Given the description of an element on the screen output the (x, y) to click on. 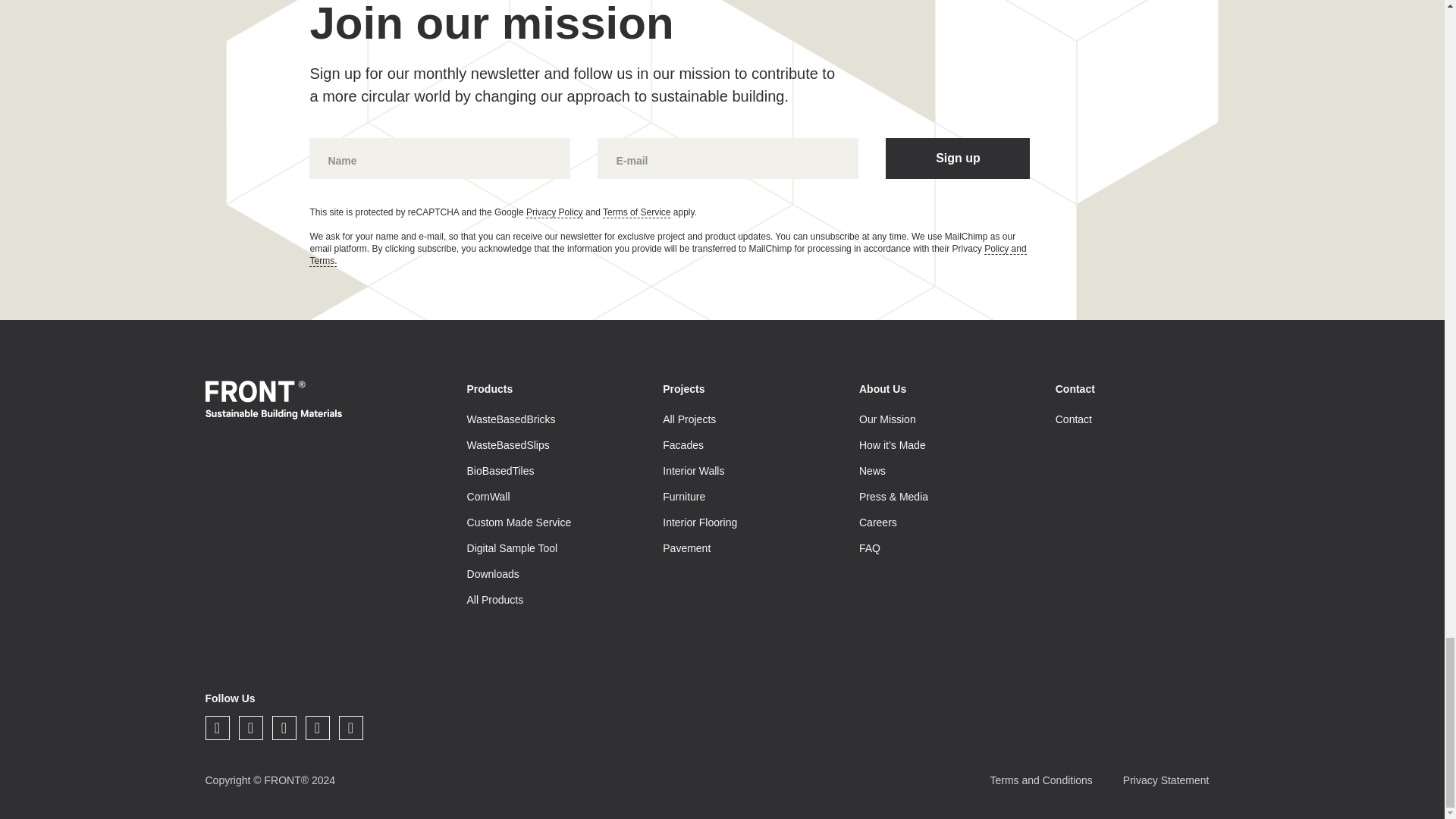
Terms of Service (635, 212)
Privacy Policy (554, 212)
Policy and Terms. (667, 254)
Sign up (957, 158)
BioBasedTiles (500, 470)
Go to Front home (273, 400)
WasteBasedSlips (508, 444)
Sign up (957, 158)
CornWall (489, 496)
WasteBasedBricks (511, 419)
